Given the description of an element on the screen output the (x, y) to click on. 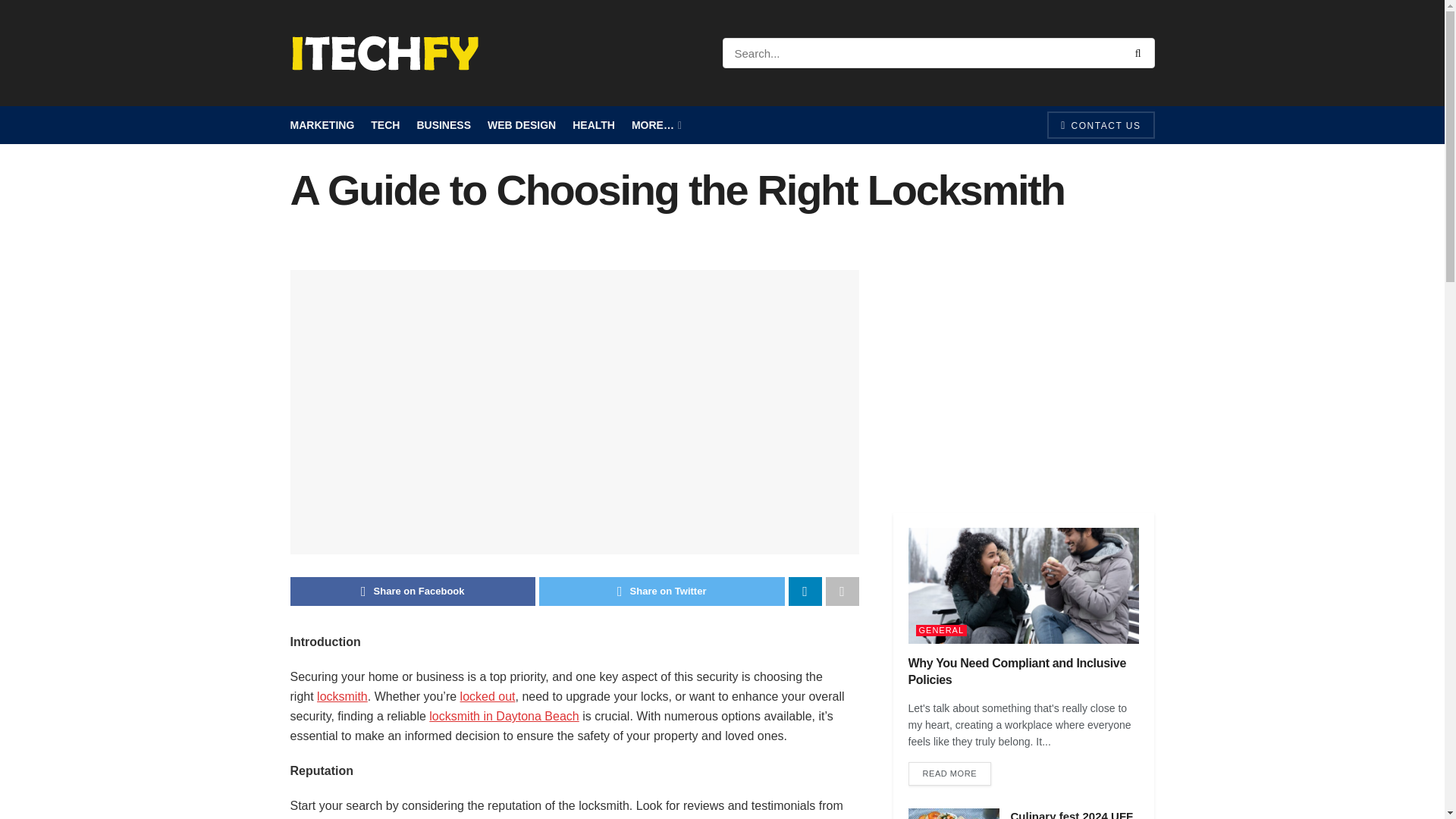
CONTACT US (1100, 124)
BUSINESS (443, 125)
Advertisement (1023, 376)
HEALTH (593, 125)
MARKETING (321, 125)
WEB DESIGN (521, 125)
